Given the description of an element on the screen output the (x, y) to click on. 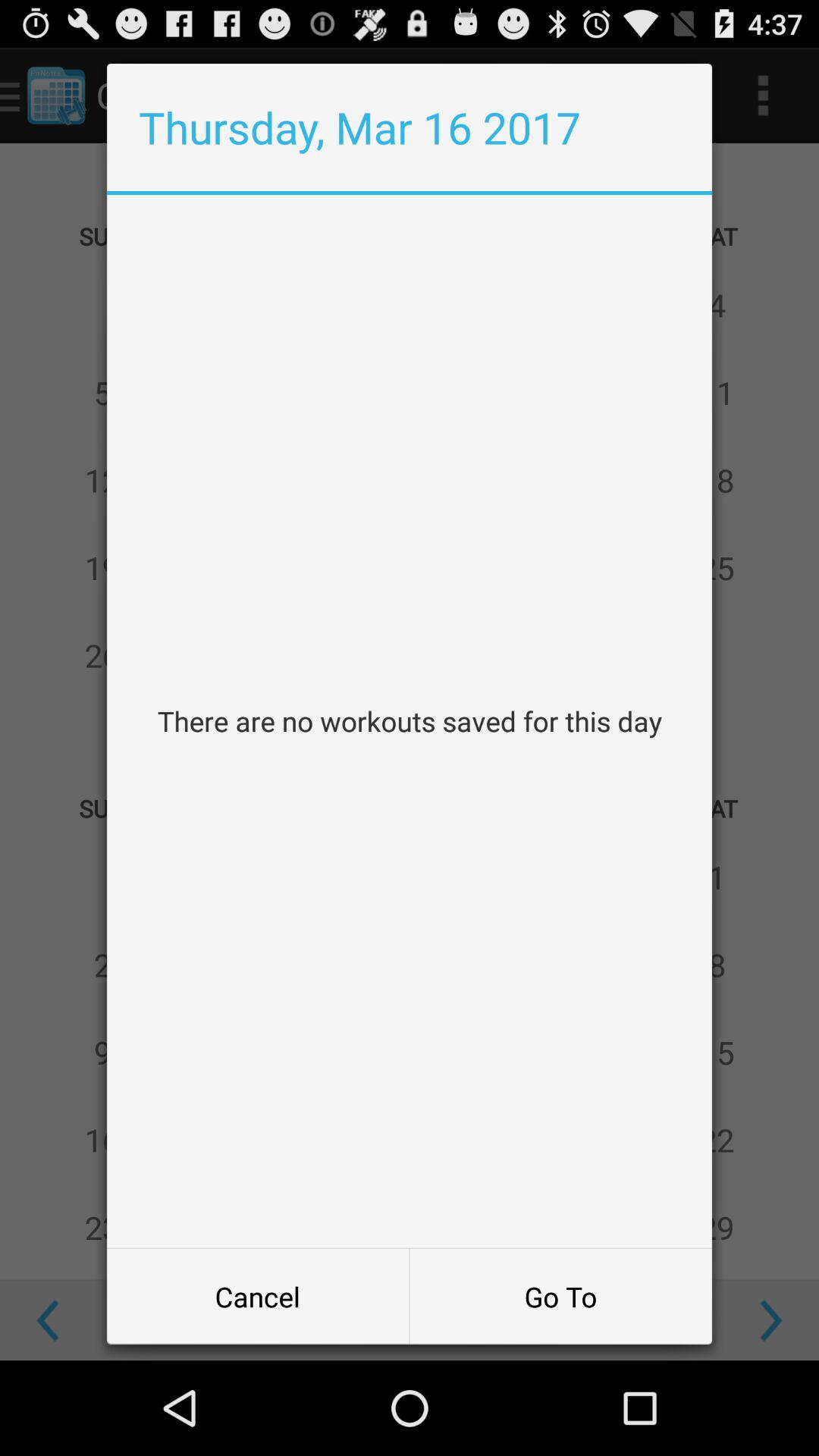
jump until go to button (561, 1296)
